Given the description of an element on the screen output the (x, y) to click on. 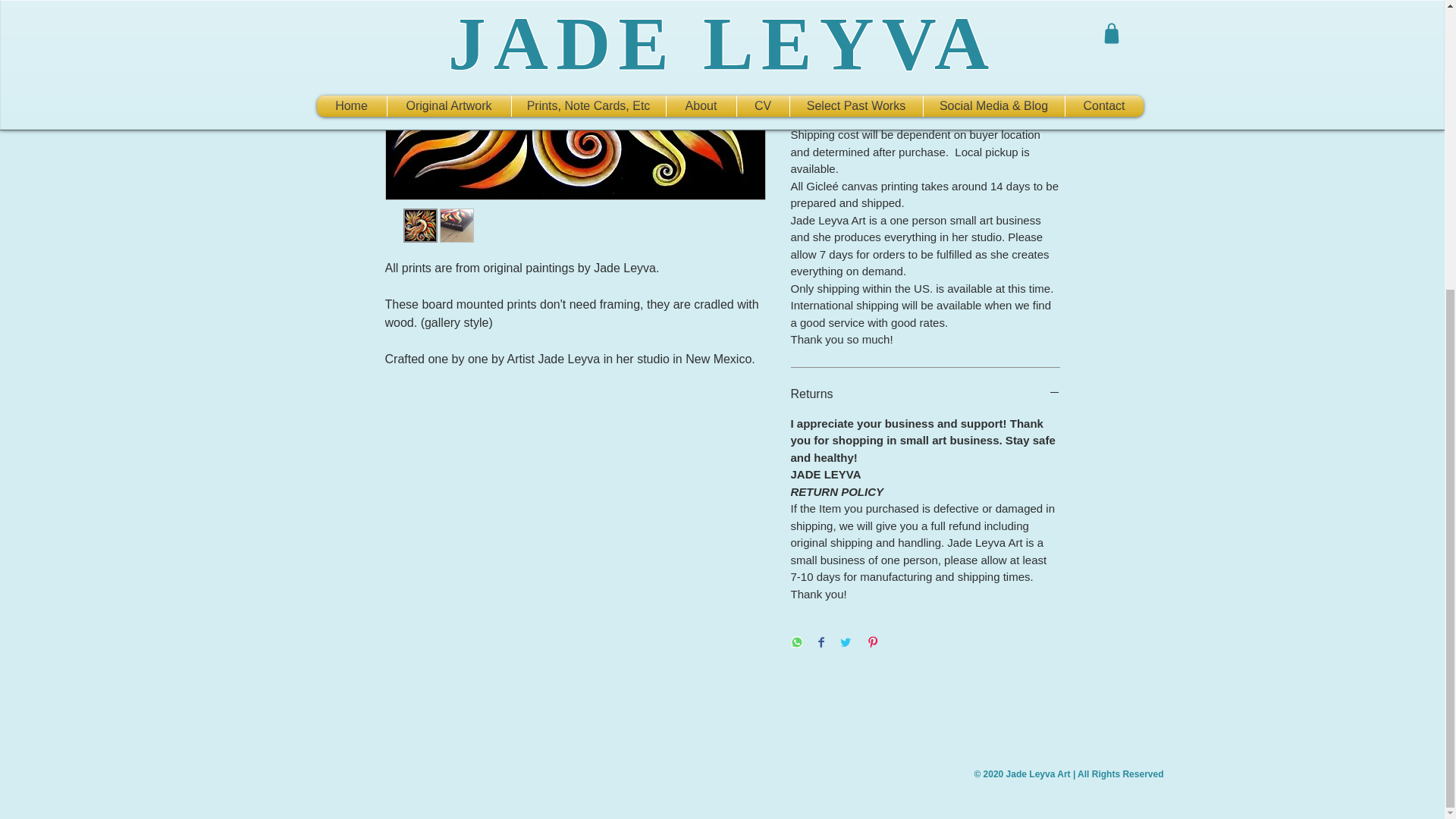
Add to Cart (924, 45)
Shipping Info (924, 105)
Returns (924, 393)
1 (818, 2)
